Given the description of an element on the screen output the (x, y) to click on. 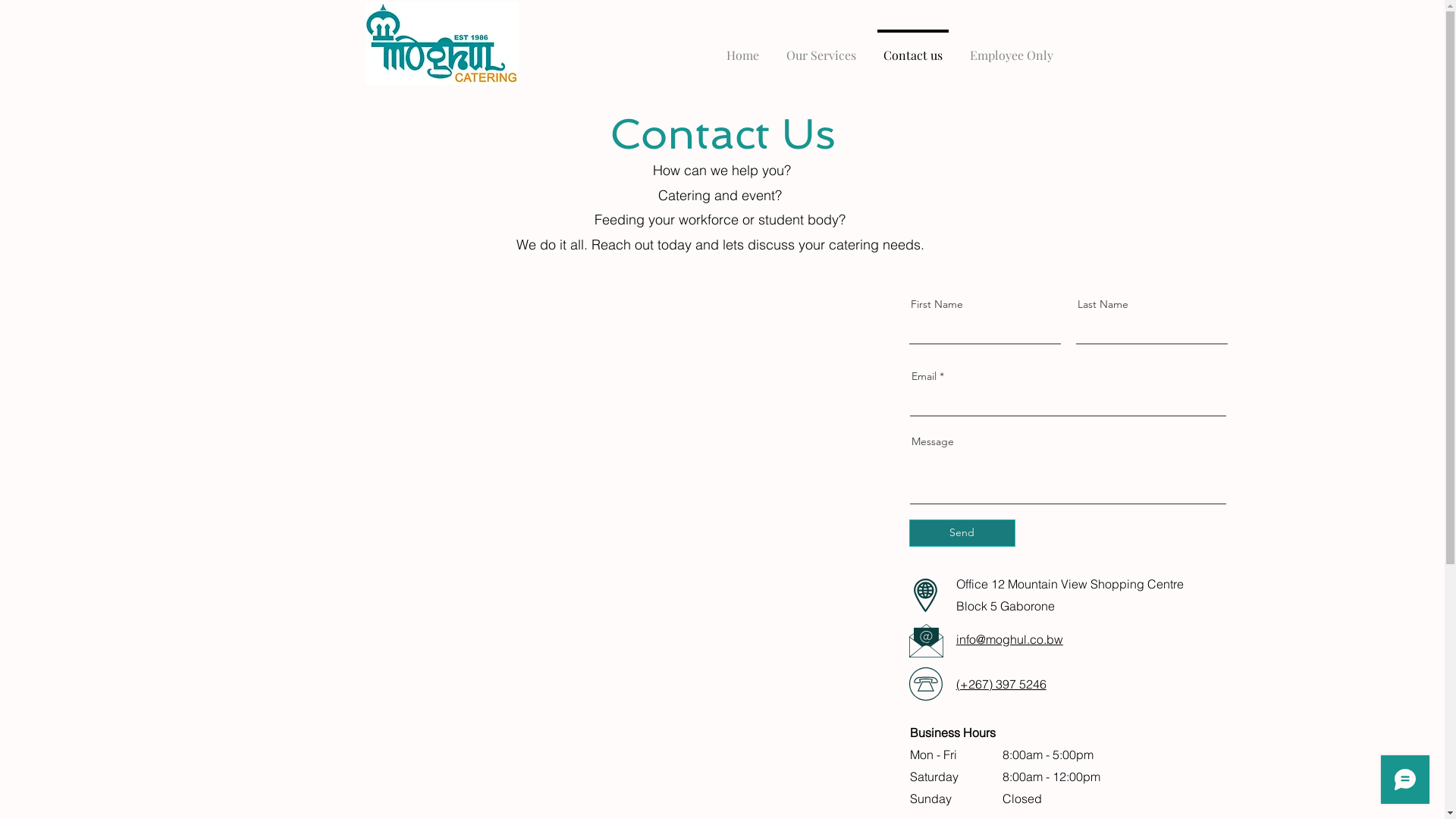
Our Services Element type: text (820, 48)
Send Element type: text (962, 532)
Home Element type: text (742, 48)
Employee Only Element type: text (1010, 48)
(+267) 397 5246 Element type: text (1001, 683)
Moghul-new Logo.jpg Element type: hover (441, 43)
info@moghul.co.bw Element type: text (1009, 638)
Contact us Element type: text (912, 48)
